Given the description of an element on the screen output the (x, y) to click on. 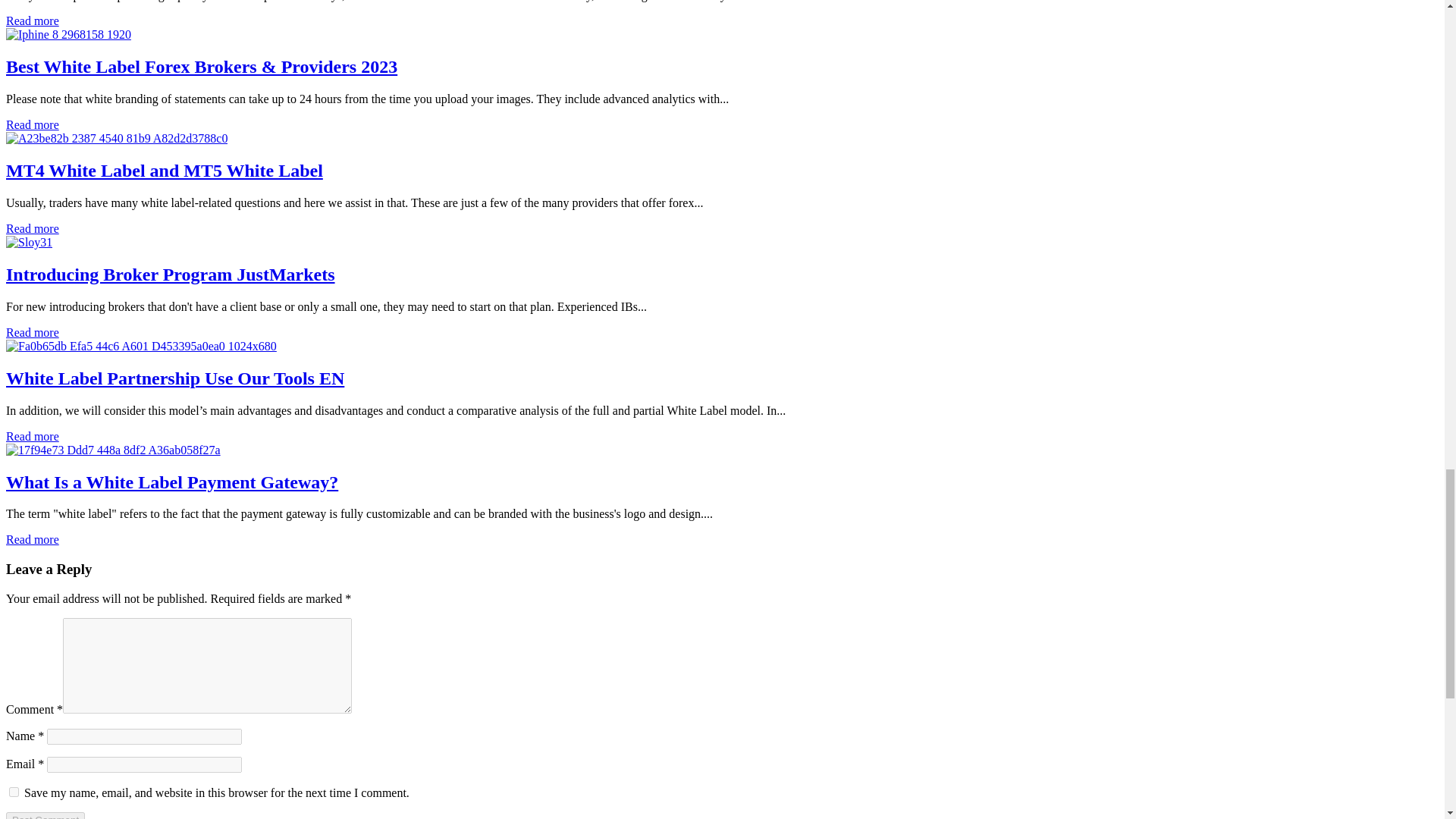
yes (13, 791)
Read more (32, 20)
White Label Partnership Use Our Tools EN (140, 345)
MT4 White Label and MT5 White Label (116, 137)
Introducing Broker Program JustMarkets (169, 274)
Read more (32, 124)
What Is a White Label Payment Gateway? (113, 449)
MT4 White Label and MT5 White Label (164, 170)
Read more (32, 332)
Read more (32, 228)
